Given the description of an element on the screen output the (x, y) to click on. 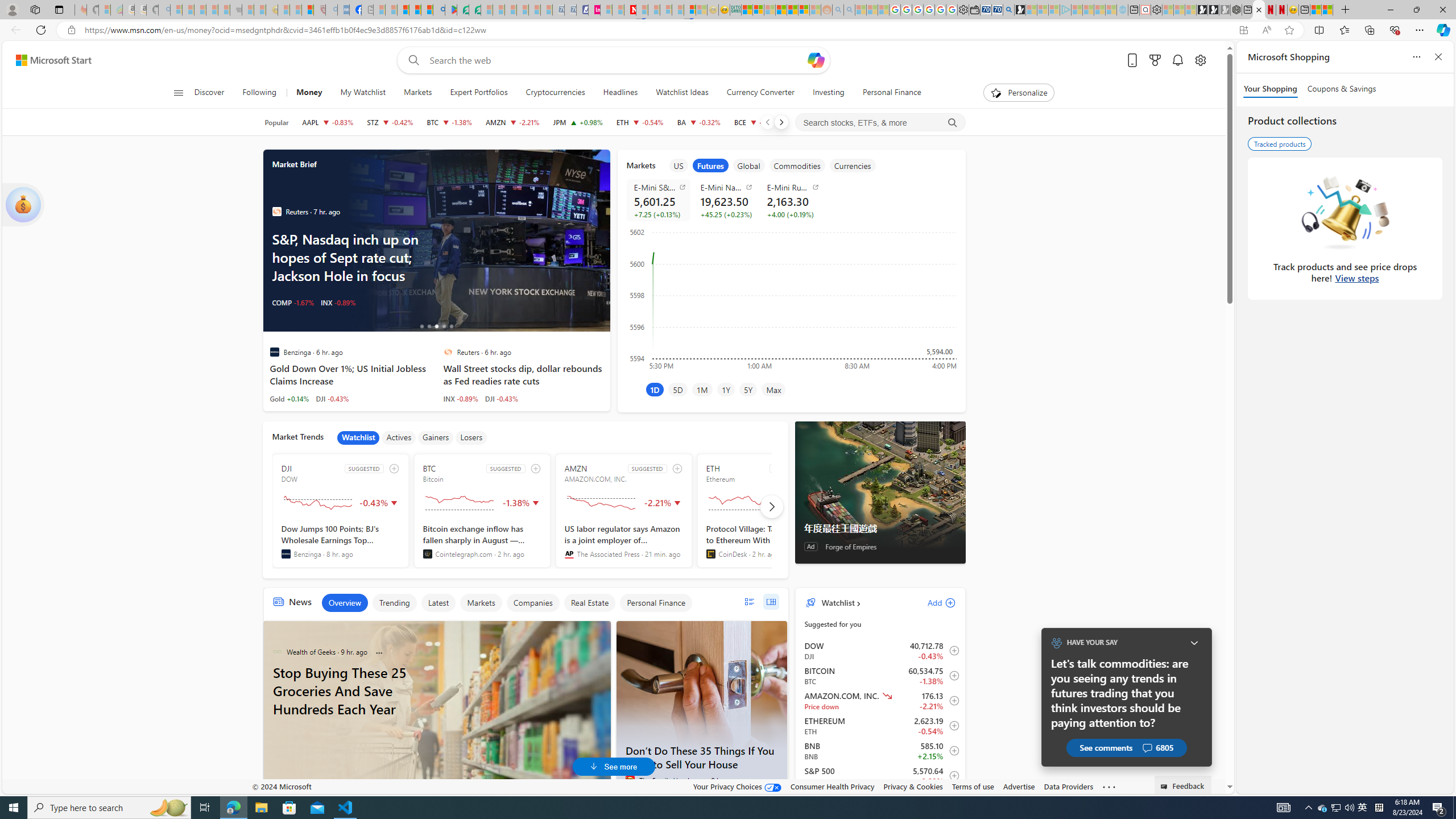
E-Mini Nasdaq 100 Futures (727, 187)
Dow Jumps 100 Points; BJ's Wholesale Earnings Top Estimates (340, 540)
AAPL APPLE INC. decrease 224.53 -1.87 -0.83% (328, 122)
BTC Bitcoin decrease 60,534.75 -837.20 -1.38% (449, 122)
Your Privacy Choices (737, 785)
Actives (398, 437)
